Given the description of an element on the screen output the (x, y) to click on. 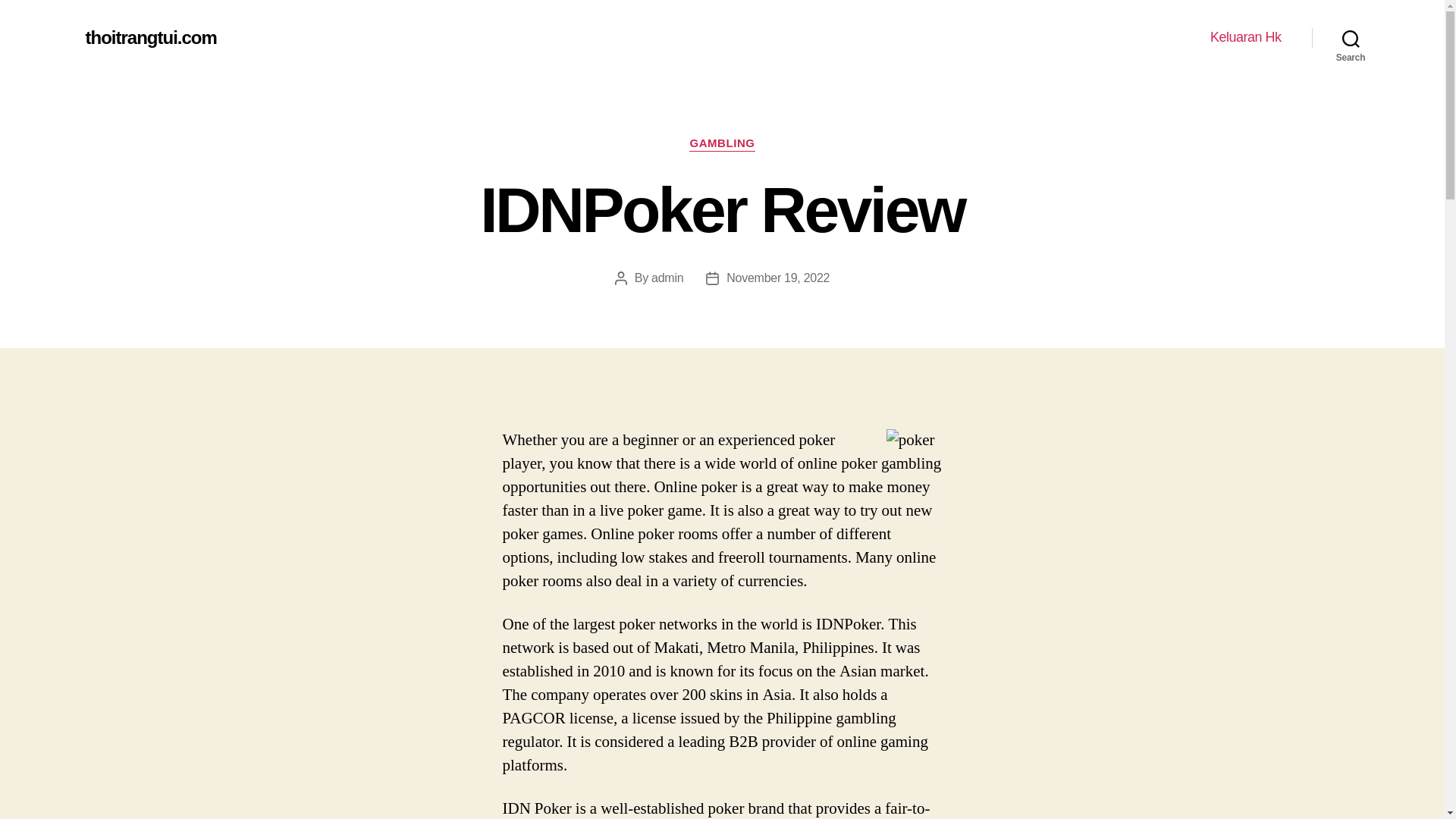
Search (1350, 37)
GAMBLING (721, 143)
thoitrangtui.com (149, 37)
admin (666, 277)
November 19, 2022 (777, 277)
Keluaran Hk (1245, 37)
